Given the description of an element on the screen output the (x, y) to click on. 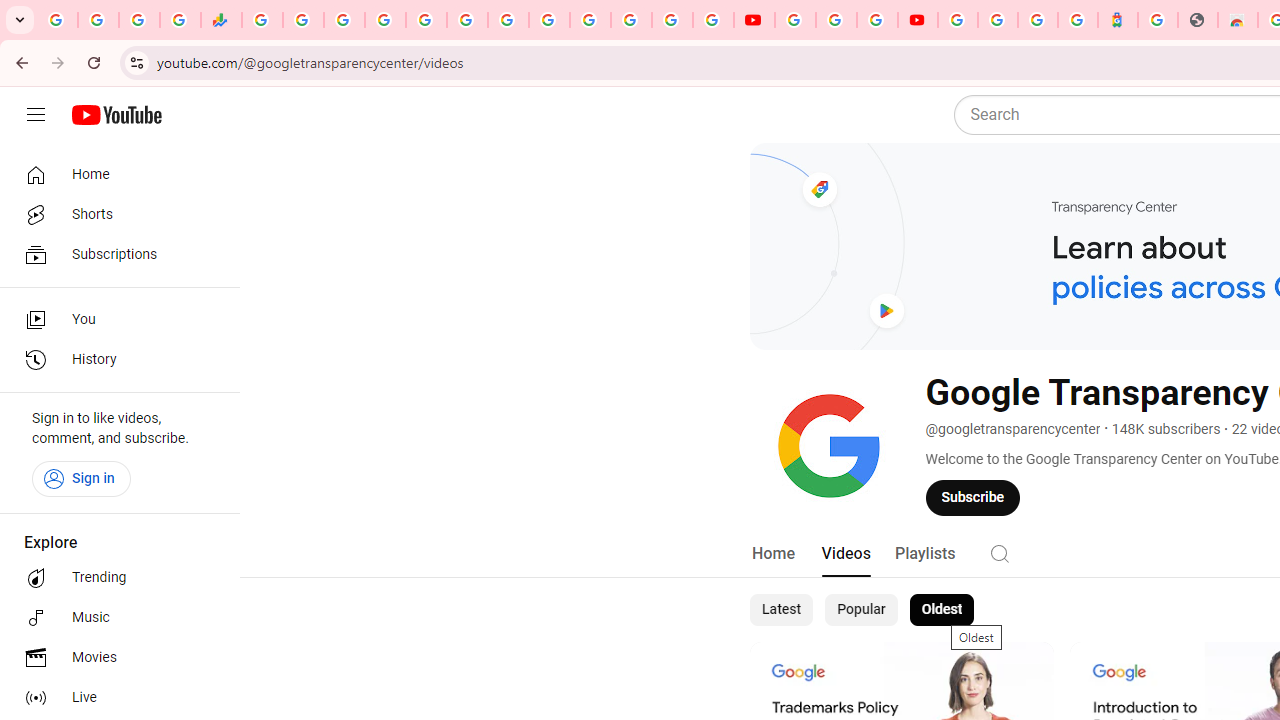
Home (772, 553)
Oldest (941, 609)
Chrome Web Store - Household (1238, 20)
YouTube Home (116, 115)
Popular (861, 609)
Sign in - Google Accounts (589, 20)
Movies (113, 657)
Shorts (113, 214)
Sign in - Google Accounts (957, 20)
Sign in (81, 478)
